Given the description of an element on the screen output the (x, y) to click on. 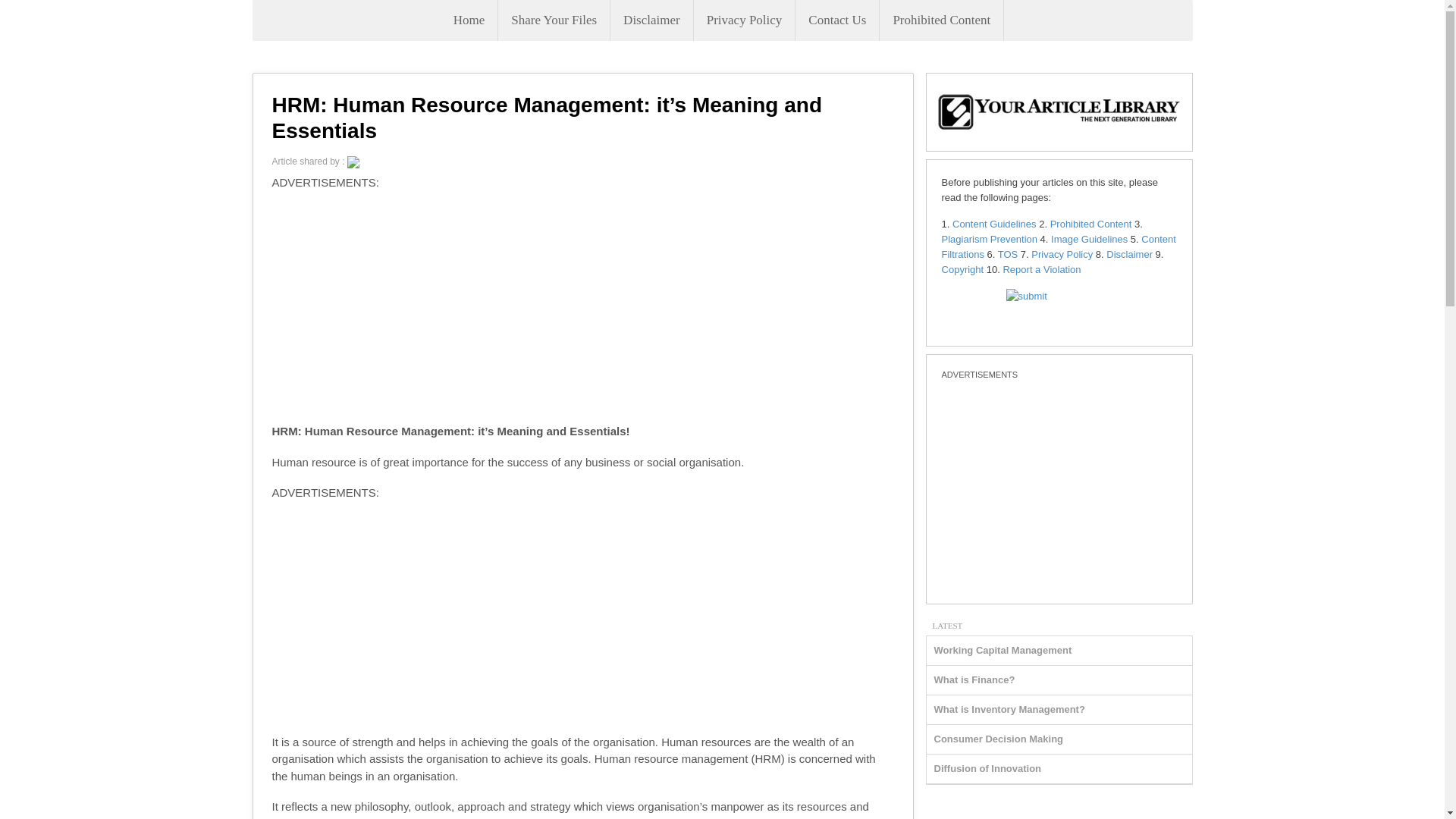
Contact Us (836, 20)
Disclaimer (1129, 254)
TOS (1007, 254)
Report a Violation (1041, 269)
LATEST (947, 624)
Image Guidelines (1088, 238)
Advertisement (1059, 487)
Disclaimer (651, 20)
Plagiarism Prevention (989, 238)
Copyright (963, 269)
